Given the description of an element on the screen output the (x, y) to click on. 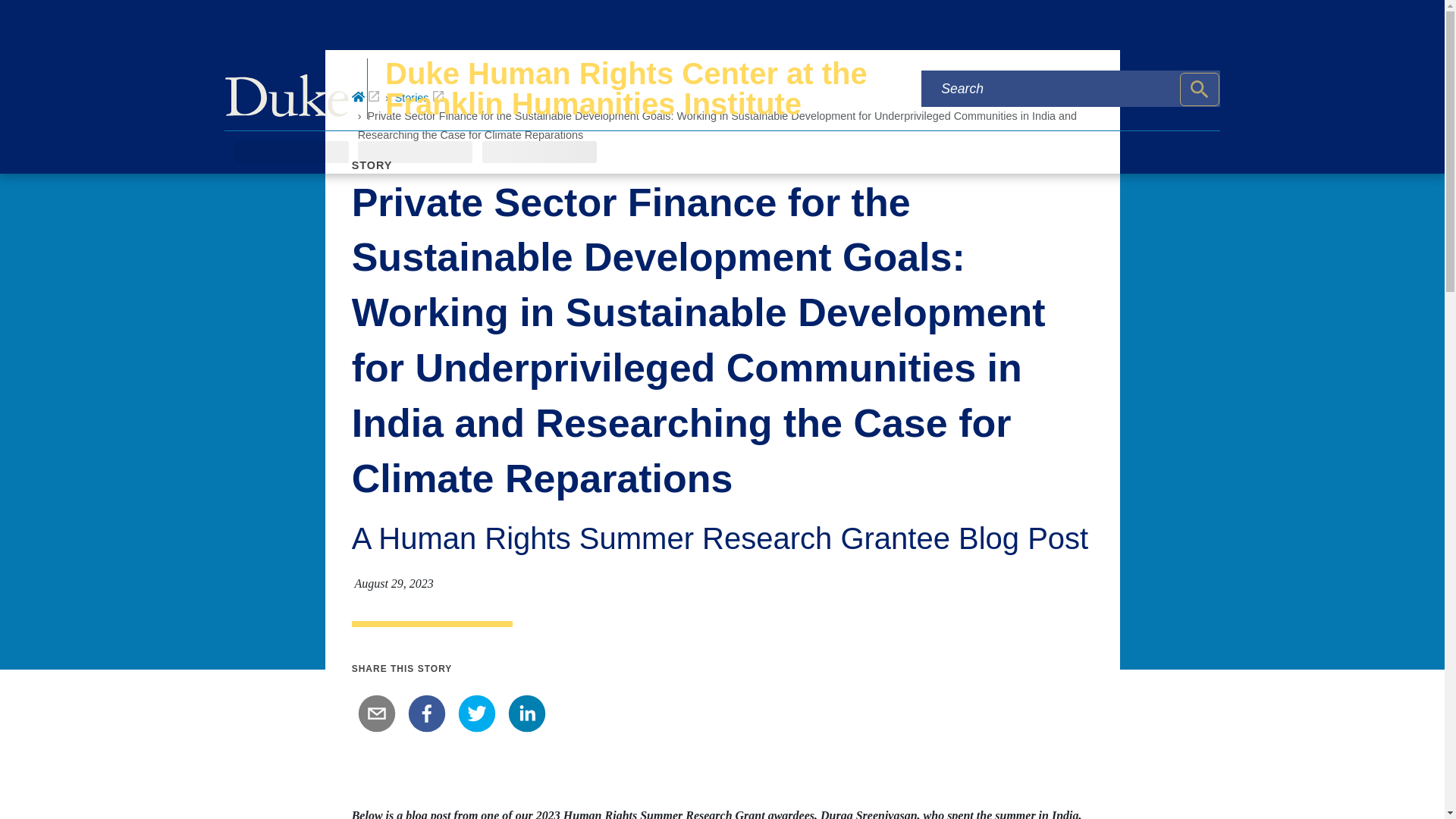
Stories (419, 97)
Home (365, 97)
